Given the description of an element on the screen output the (x, y) to click on. 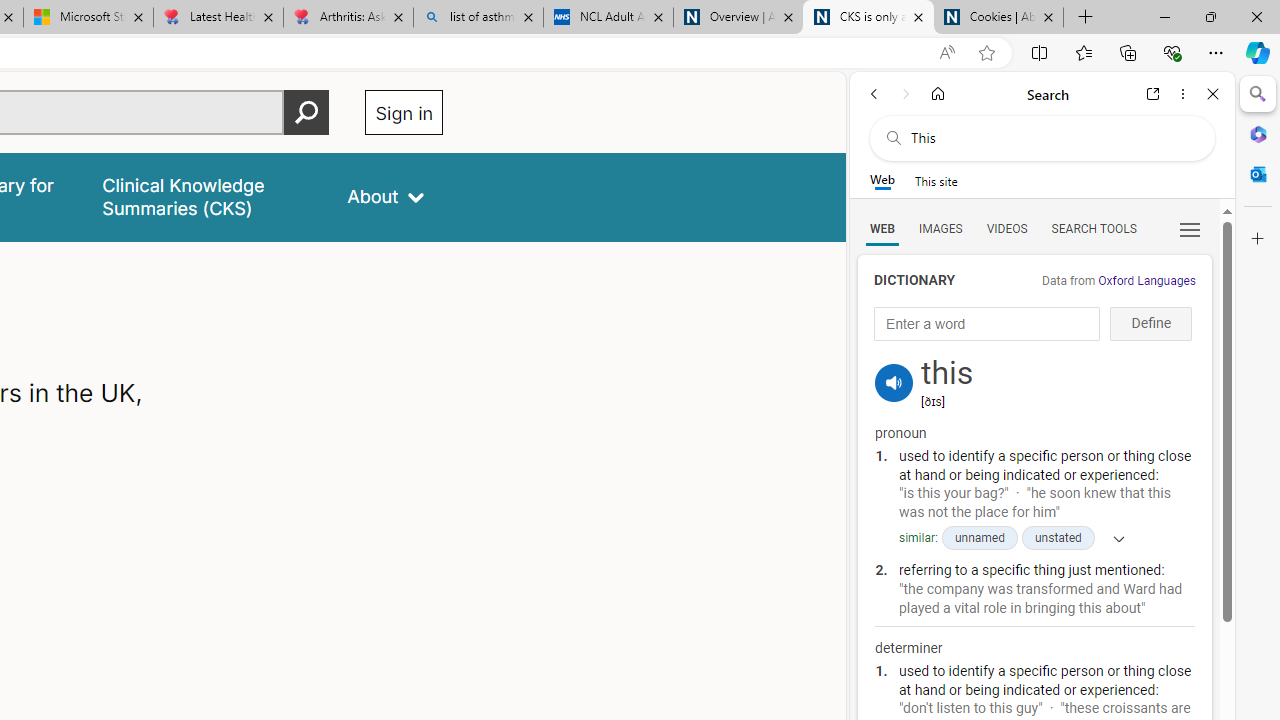
Enter a word (987, 323)
Define (1150, 323)
Link for logging (893, 359)
Perform search (307, 112)
